Given the description of an element on the screen output the (x, y) to click on. 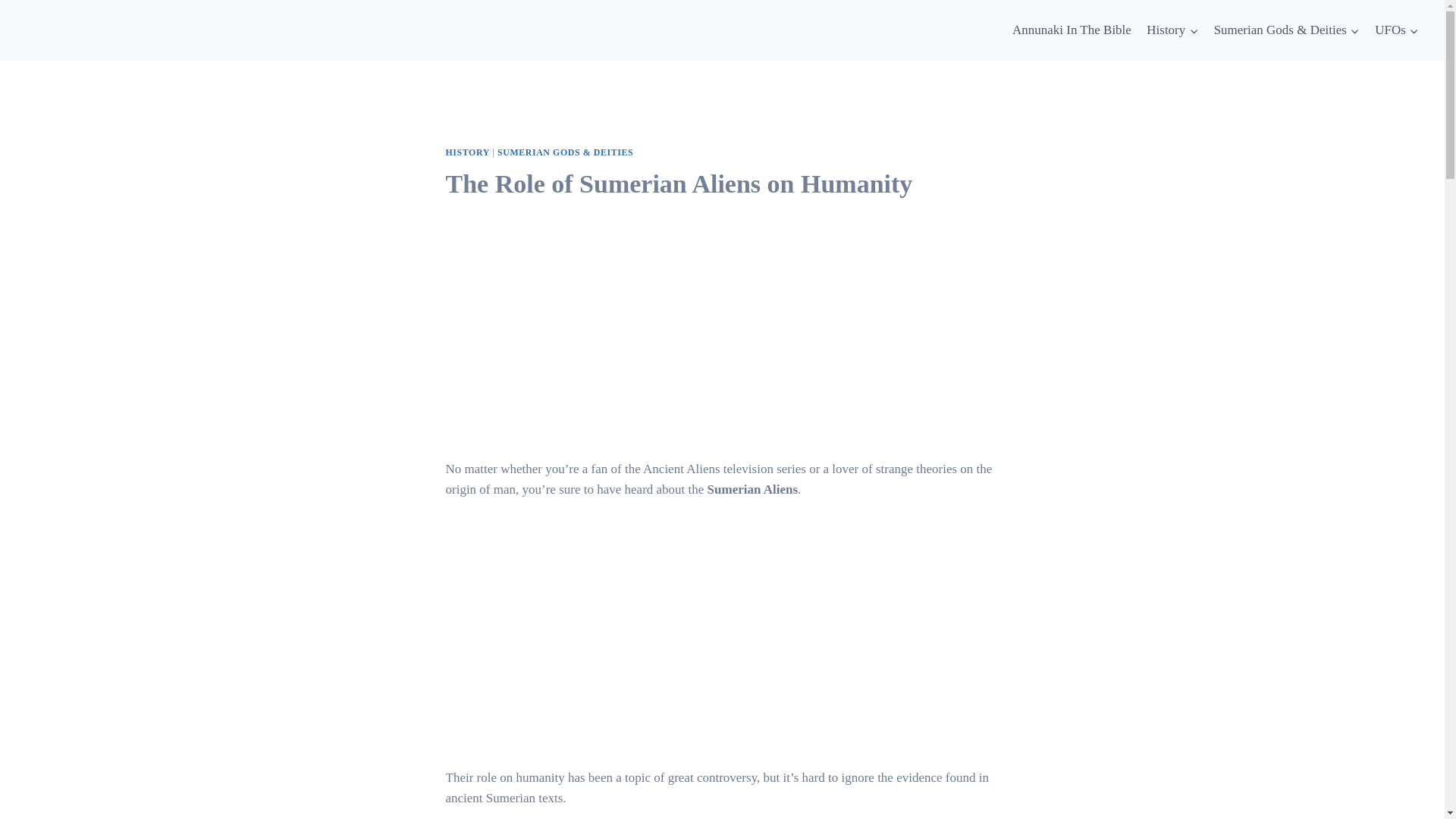
HISTORY (467, 152)
Annunaki In The Bible (1071, 30)
History (1171, 30)
UFOs (1396, 30)
